Given the description of an element on the screen output the (x, y) to click on. 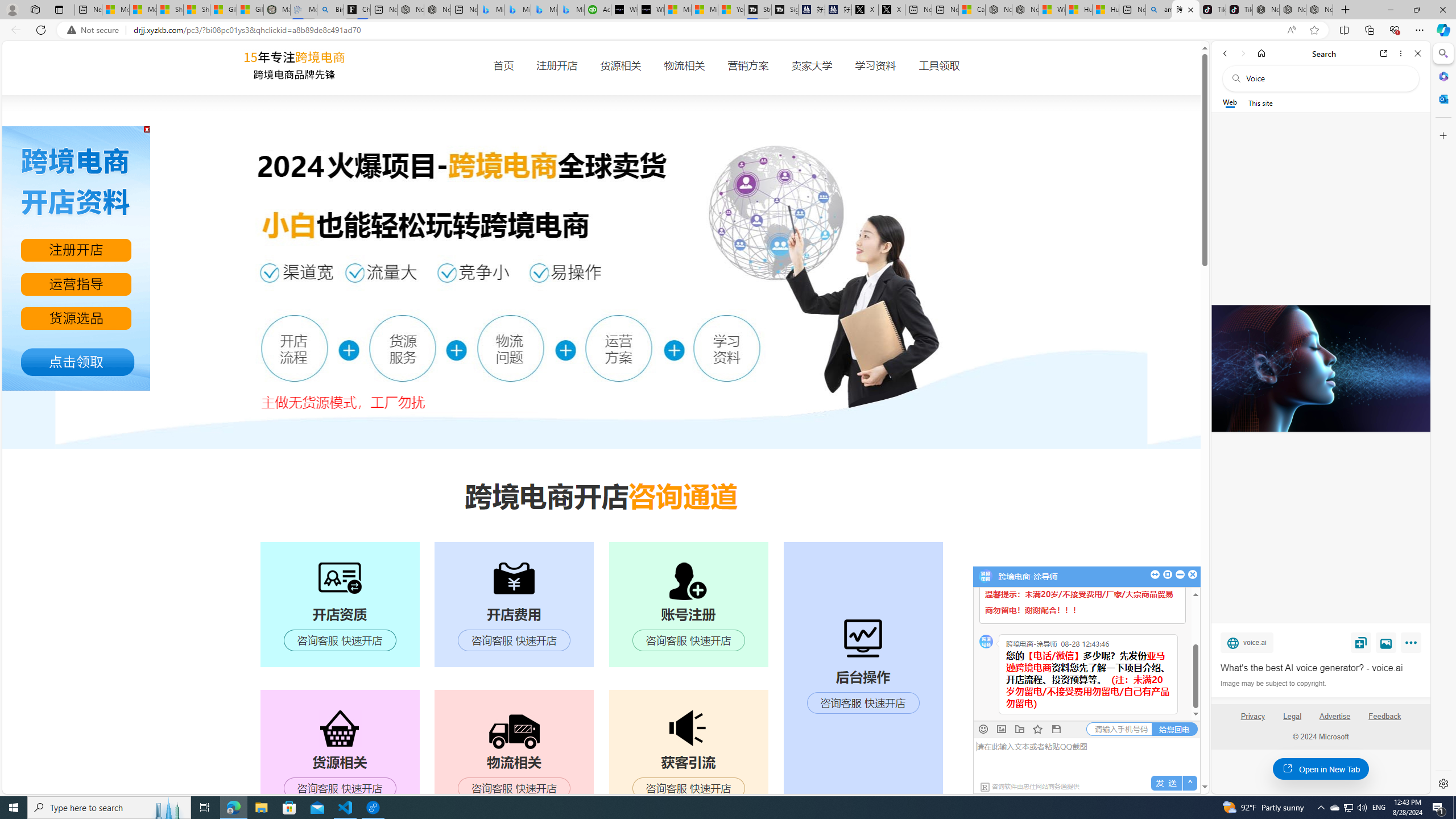
voice.ai (1247, 642)
